Given the description of an element on the screen output the (x, y) to click on. 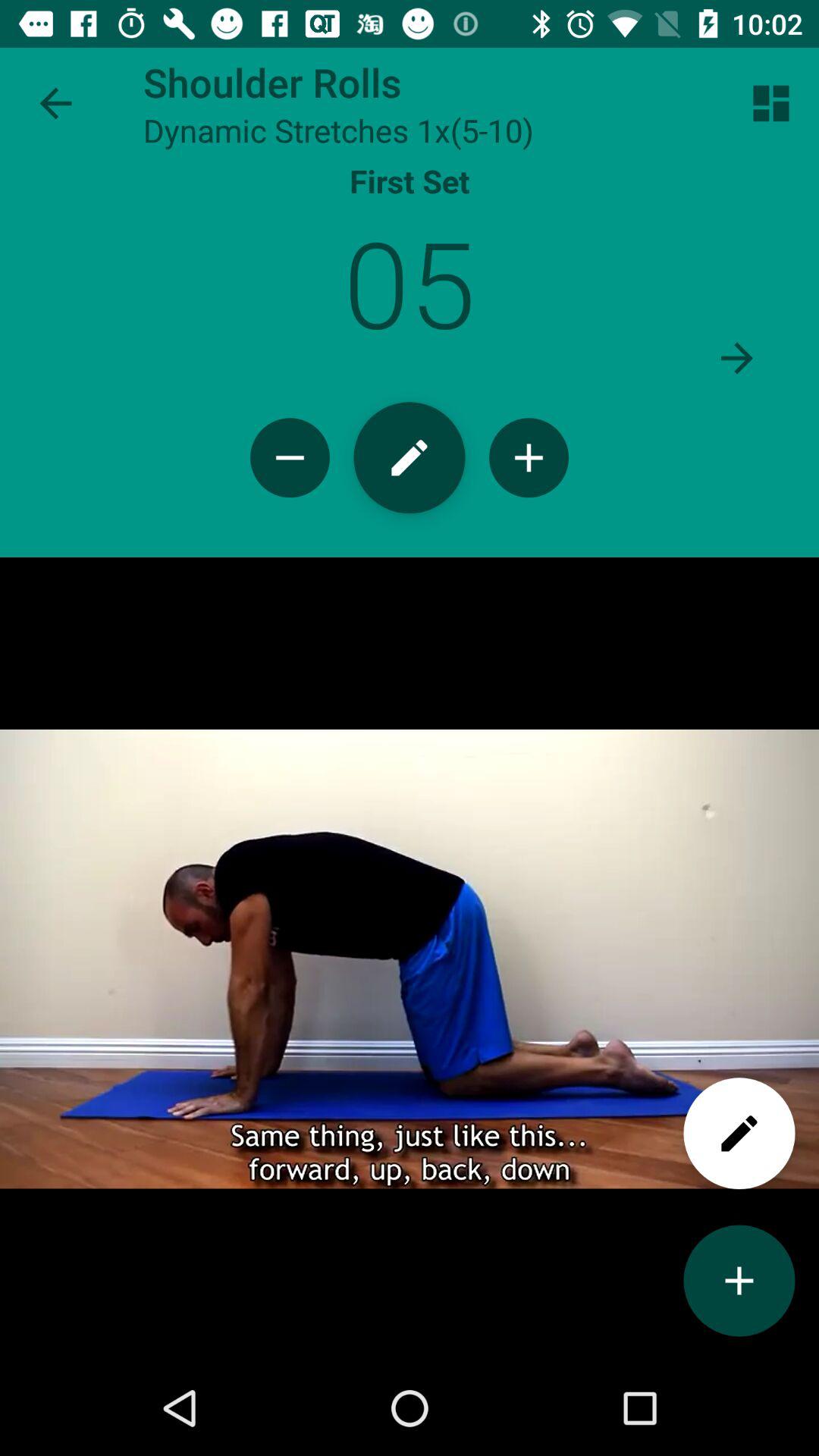
go to find (739, 1133)
